Given the description of an element on the screen output the (x, y) to click on. 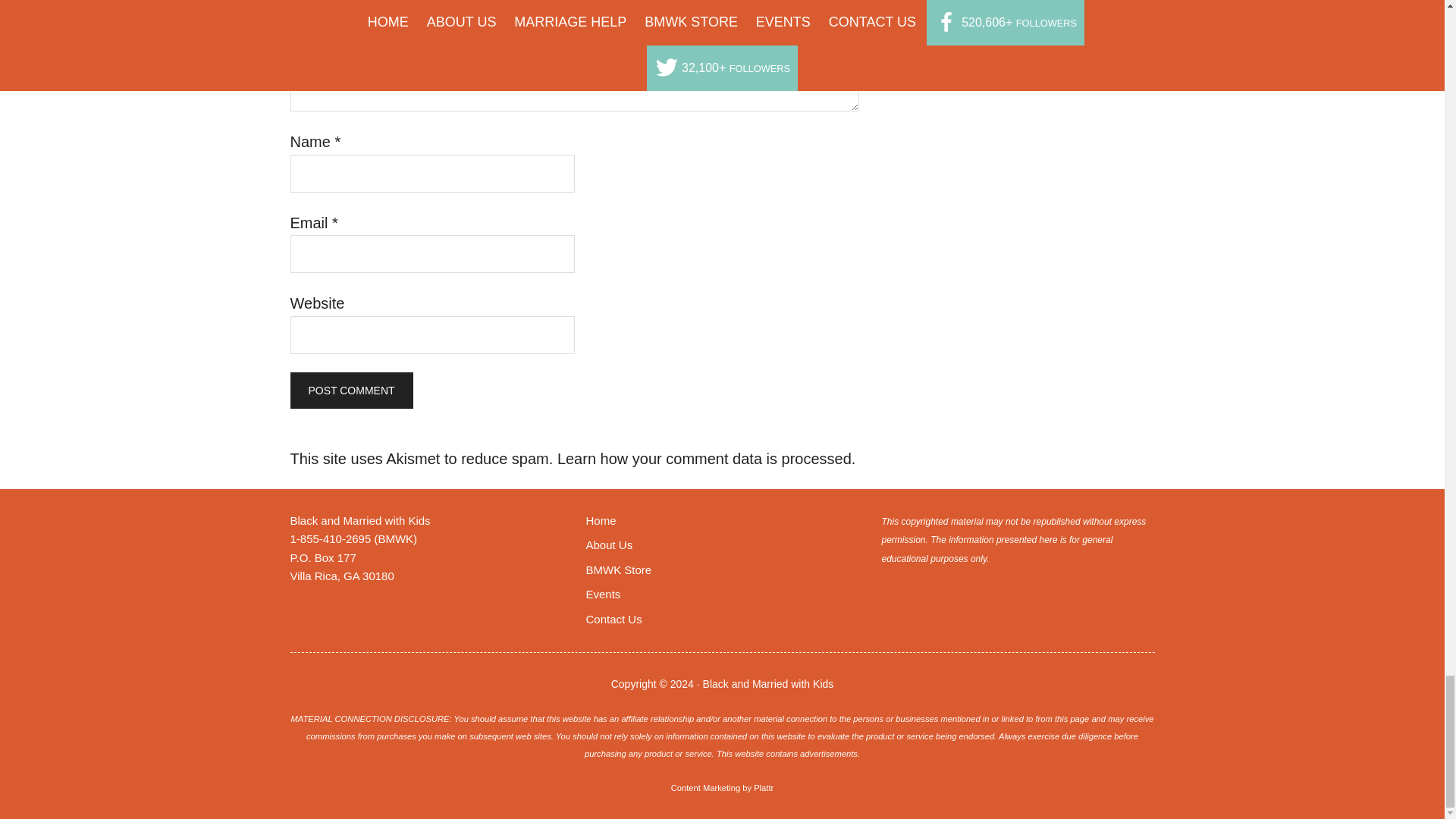
Post Comment (350, 389)
